Given the description of an element on the screen output the (x, y) to click on. 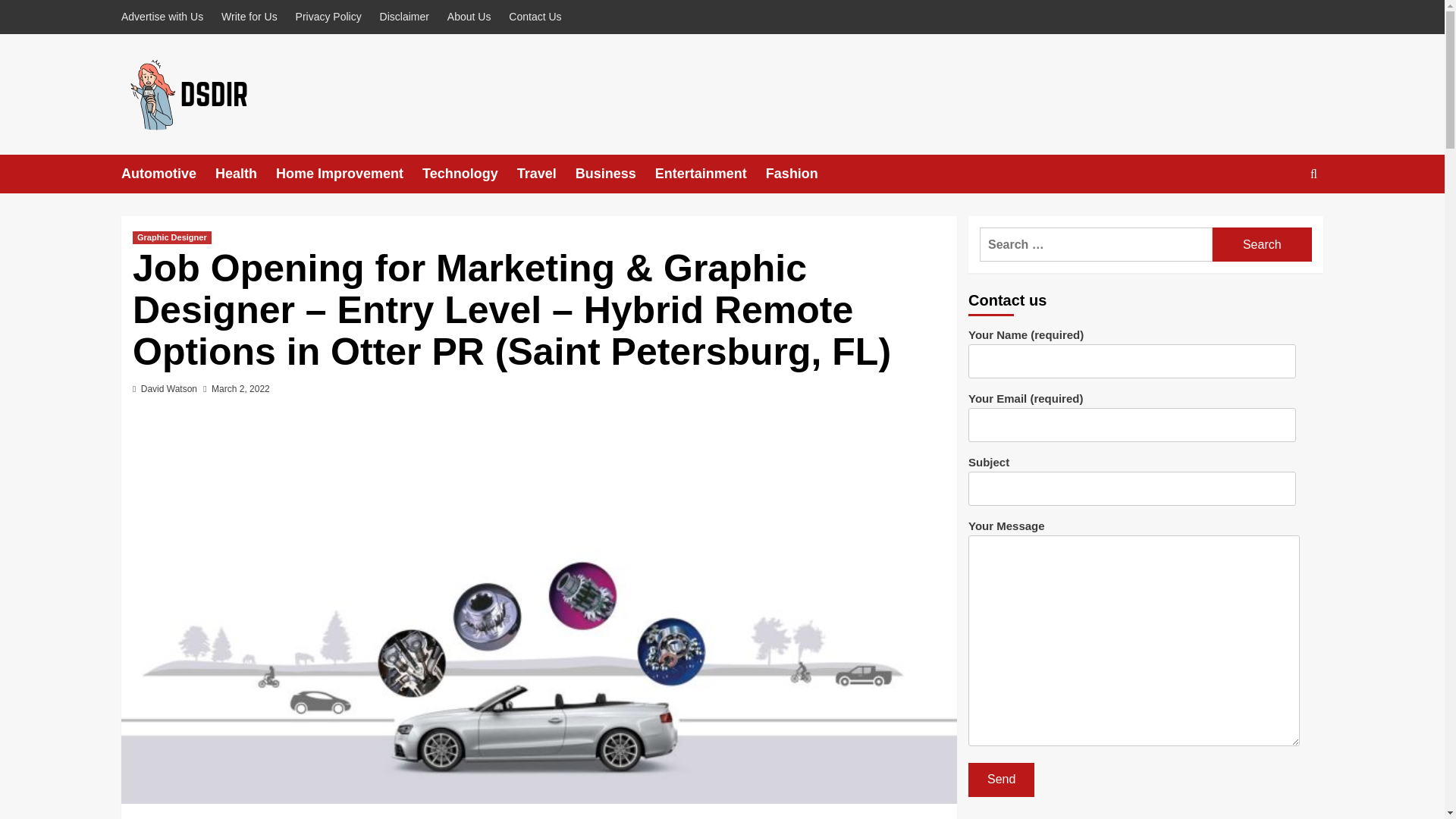
March 2, 2022 (240, 388)
About Us (469, 17)
David Watson (168, 388)
Contact Us (534, 17)
Privacy Policy (328, 17)
Automotive (167, 173)
Health (245, 173)
Search (1278, 220)
Graphic Designer (171, 237)
Technology (469, 173)
